Given the description of an element on the screen output the (x, y) to click on. 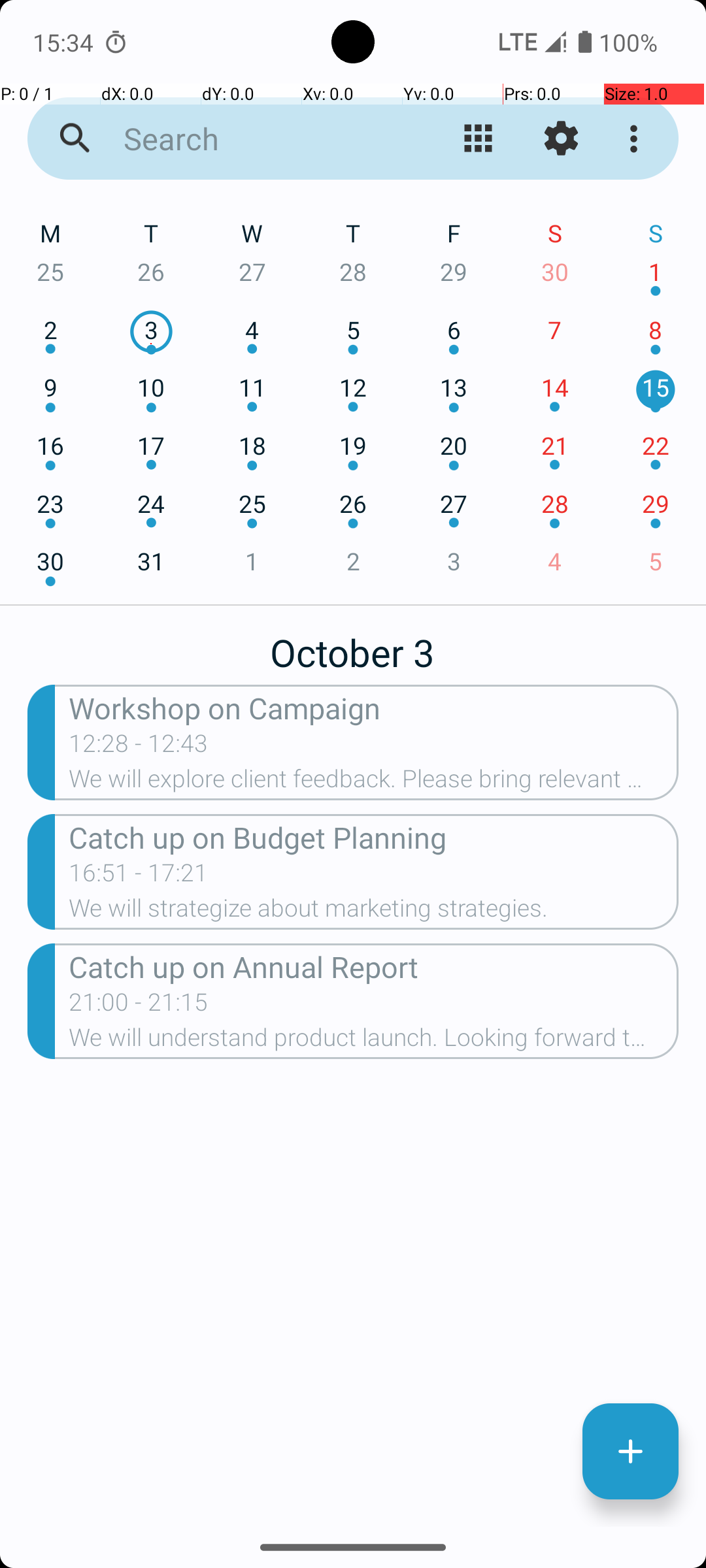
October 3 Element type: android.widget.TextView (352, 644)
12:28 - 12:43 Element type: android.widget.TextView (137, 747)
We will explore client feedback. Please bring relevant documents. Element type: android.widget.TextView (373, 782)
16:51 - 17:21 Element type: android.widget.TextView (137, 876)
We will strategize about marketing strategies. Element type: android.widget.TextView (373, 911)
21:00 - 21:15 Element type: android.widget.TextView (137, 1005)
We will understand product launch. Looking forward to productive discussions. Element type: android.widget.TextView (373, 1041)
